Given the description of an element on the screen output the (x, y) to click on. 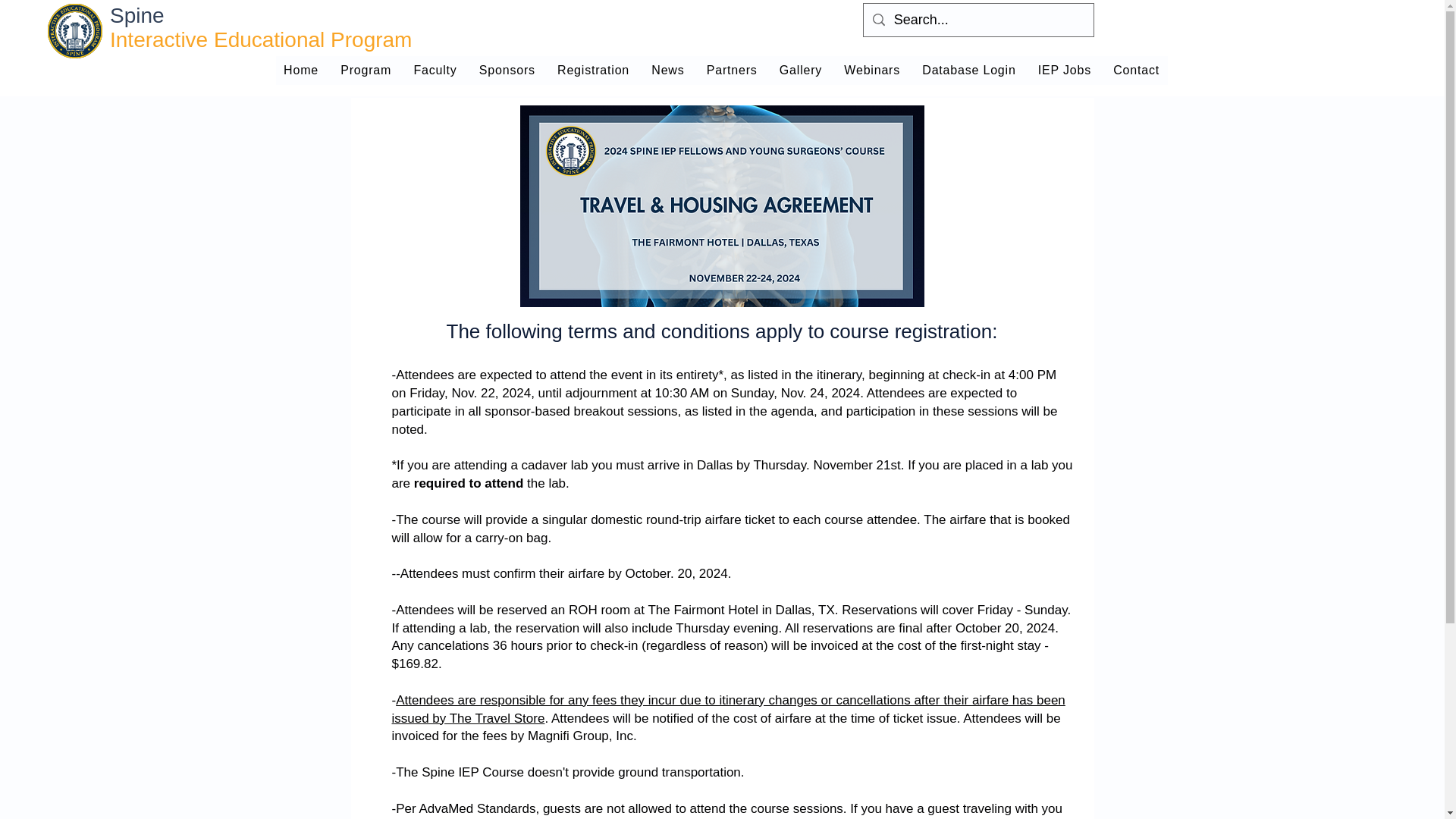
Gallery (800, 70)
Database Login (969, 70)
Interactive Educational Program   (266, 39)
Webinars (871, 70)
Spine  (140, 15)
Sponsors (506, 70)
IEP Jobs (1064, 70)
News (668, 70)
Program (365, 70)
Partners (731, 70)
Faculty (435, 70)
Contact (1136, 70)
Home (301, 70)
Registration (592, 70)
